Given the description of an element on the screen output the (x, y) to click on. 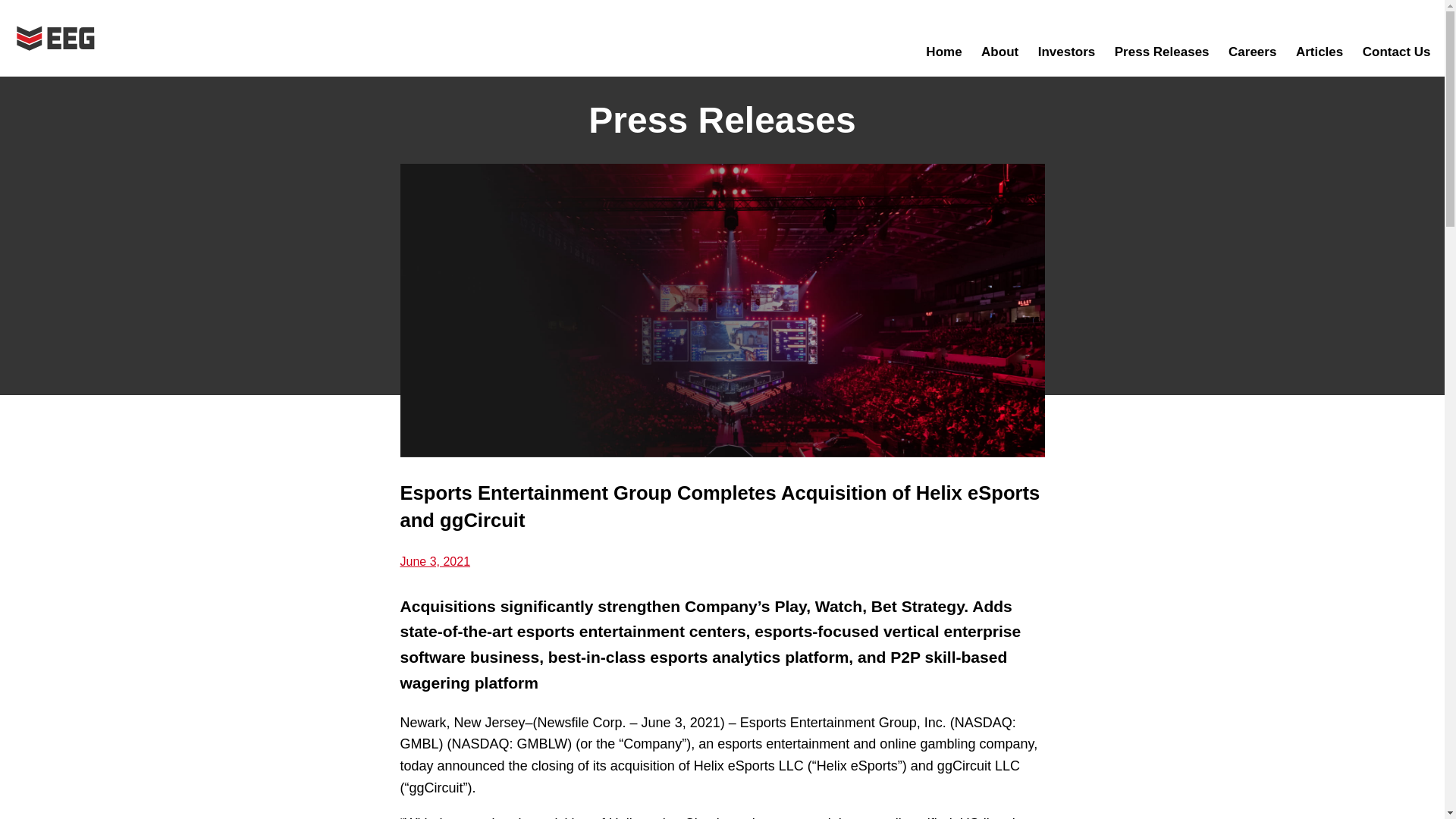
Investors (1066, 51)
Contact Us (1396, 51)
Home (944, 51)
June 3, 2021 (435, 561)
Articles (1318, 51)
About (1000, 51)
Press Releases (1161, 51)
Careers (1252, 51)
